Given the description of an element on the screen output the (x, y) to click on. 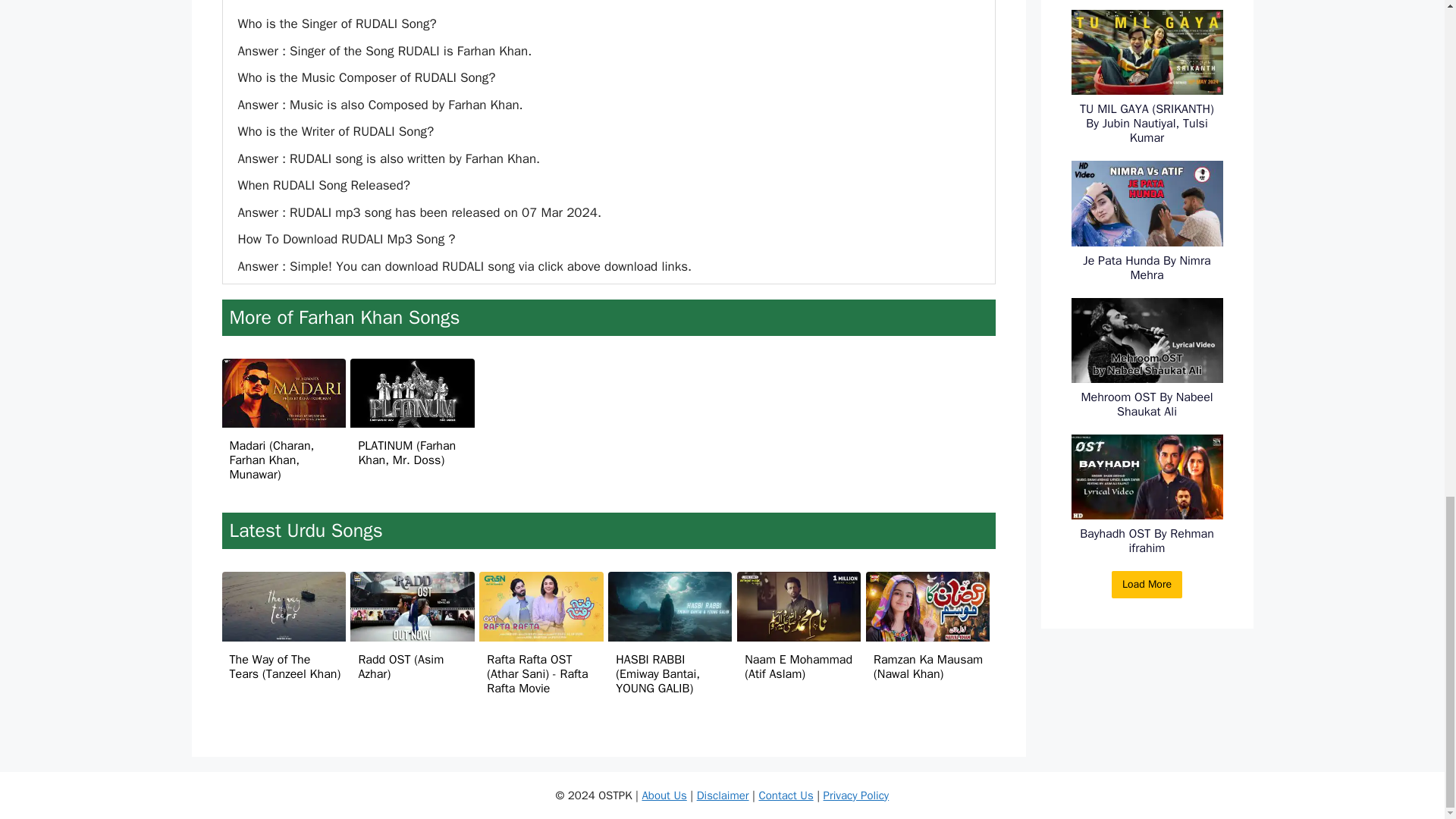
The Way of The Tears (283, 606)
Madari (283, 392)
Ramzan Ka Mausam (928, 606)
PLATINUM (412, 392)
Radd OST (412, 606)
Rafta Rafta OST (540, 606)
Naam E Mohammad (798, 606)
HASBI RABBI (670, 606)
